Given the description of an element on the screen output the (x, y) to click on. 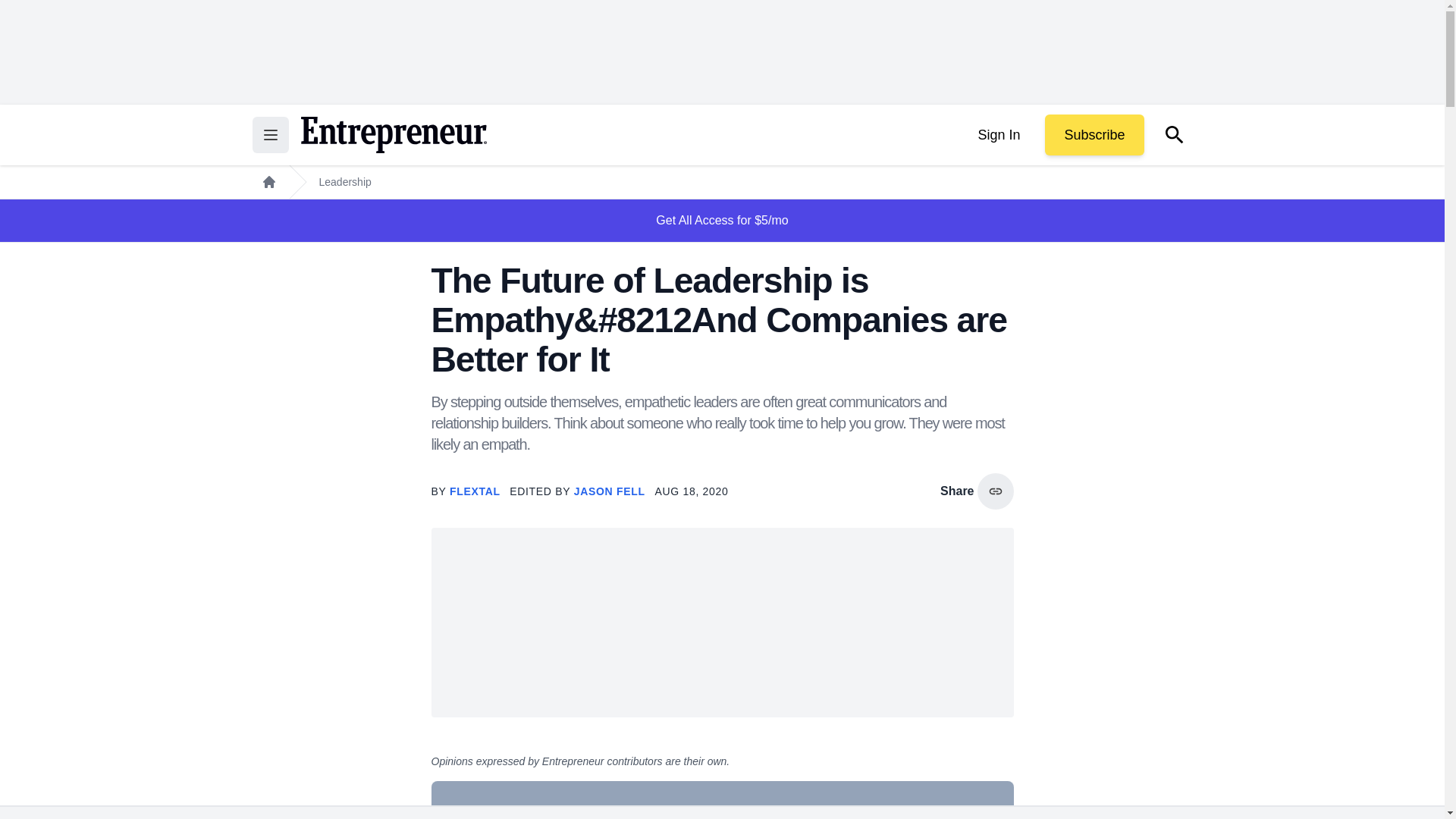
Return to the home page (392, 135)
Sign In (998, 134)
copy (994, 491)
Subscribe (1093, 134)
